Given the description of an element on the screen output the (x, y) to click on. 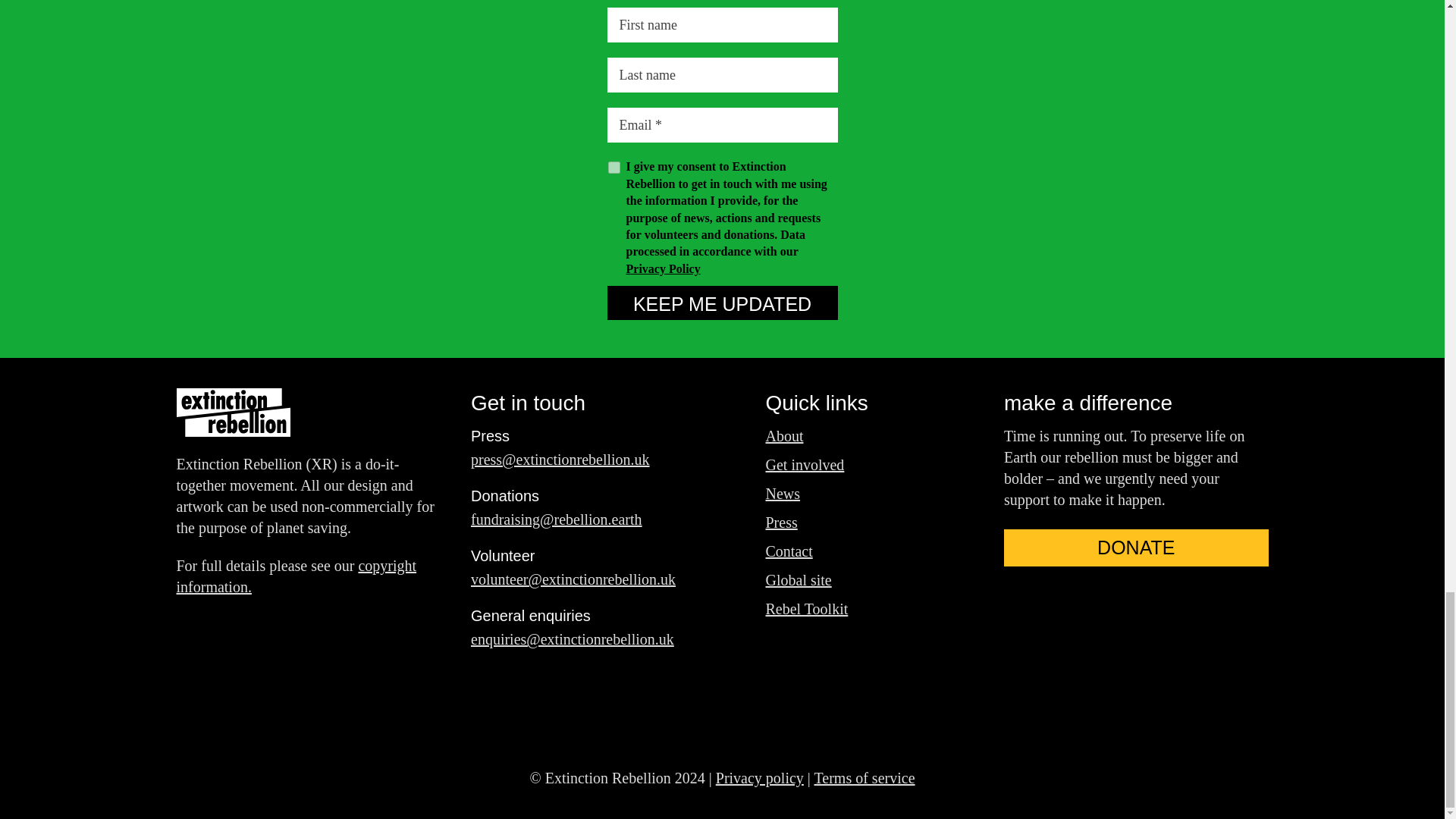
Keep me updated (722, 302)
Yes (614, 167)
